Given the description of an element on the screen output the (x, y) to click on. 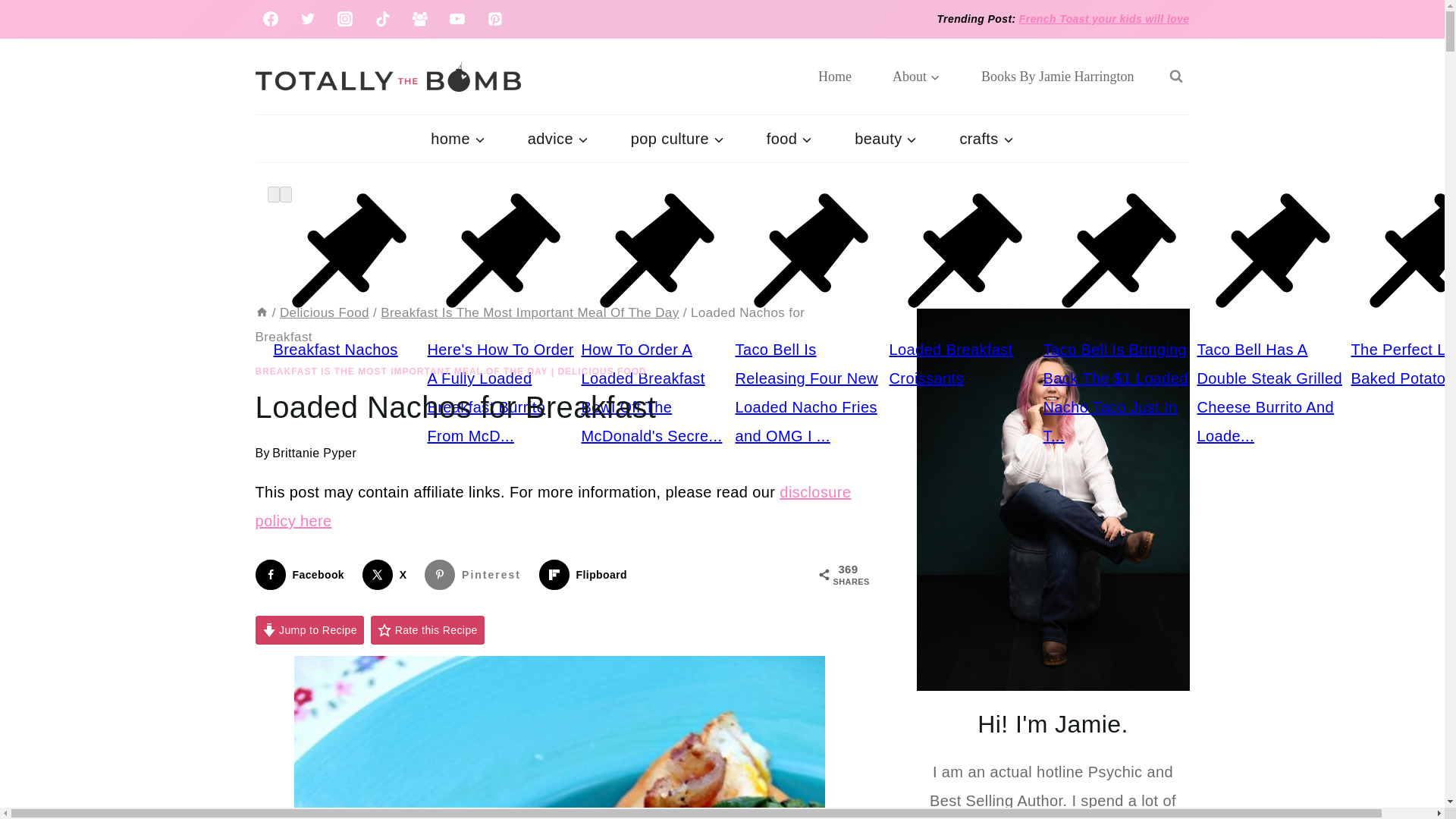
Share on Flipboard (585, 574)
Home (260, 312)
Rate this Recipe (427, 630)
Home (834, 76)
Share on Facebook (302, 574)
Share on X (387, 574)
French Toast your kids will love (1104, 19)
pop culture (677, 138)
Save to Pinterest (476, 574)
home (457, 138)
advice (558, 138)
Jump to Recipe (308, 630)
About (916, 76)
Books By Jamie Harrington (1057, 76)
